Given the description of an element on the screen output the (x, y) to click on. 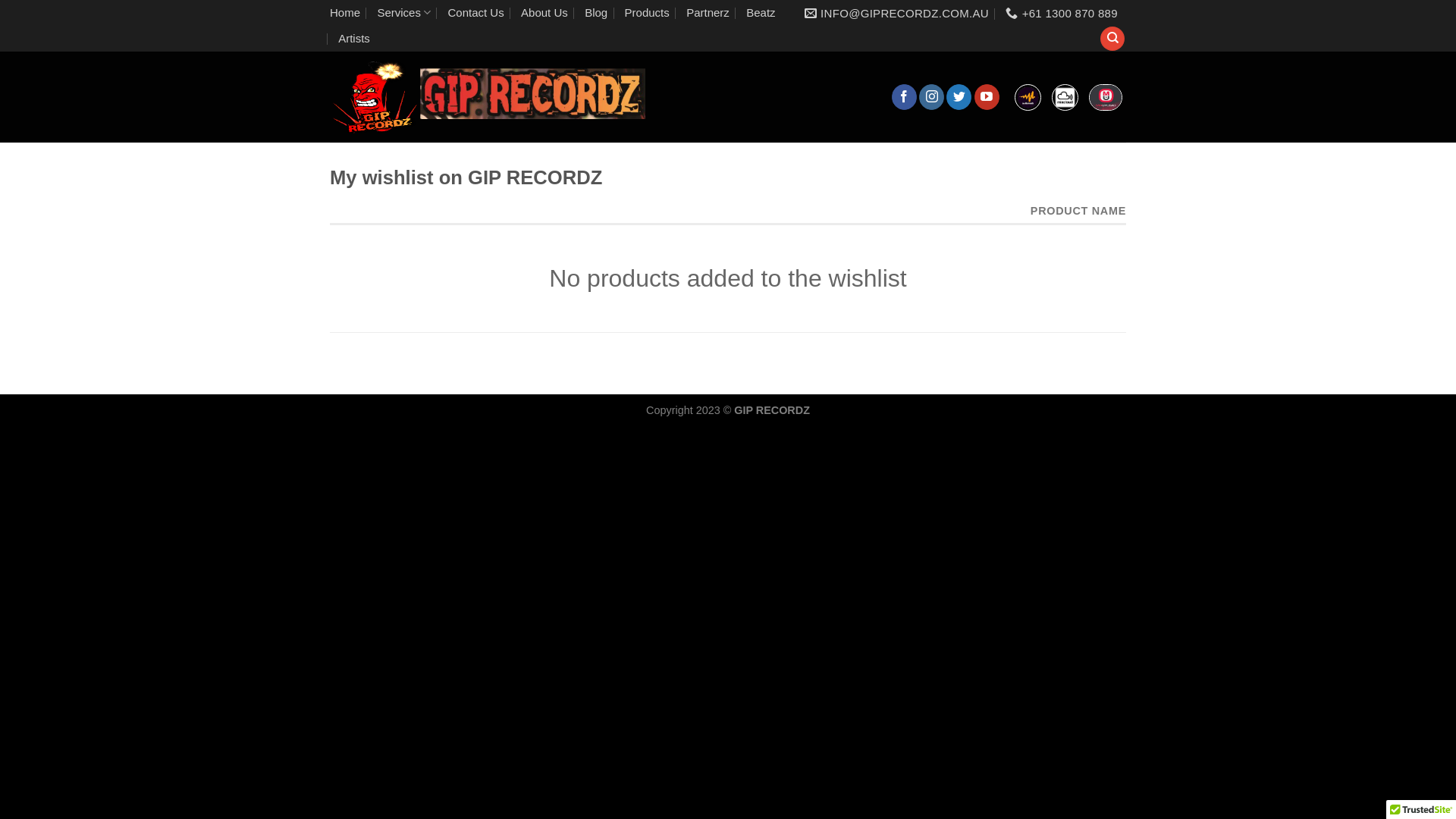
Services Element type: text (403, 12)
INFO@GIPRECORDZ.COM.AU Element type: text (896, 13)
Blog Element type: text (595, 12)
Partnerz Element type: text (707, 12)
Contact Us Element type: text (475, 12)
Artists Element type: text (354, 38)
GIP RECORDZ - pop urban record label Element type: hover (489, 96)
About Us Element type: text (543, 12)
Beatz Element type: text (760, 12)
+61 1300 870 889 Element type: text (1061, 13)
Products Element type: text (646, 12)
Home Element type: text (344, 12)
